Given the description of an element on the screen output the (x, y) to click on. 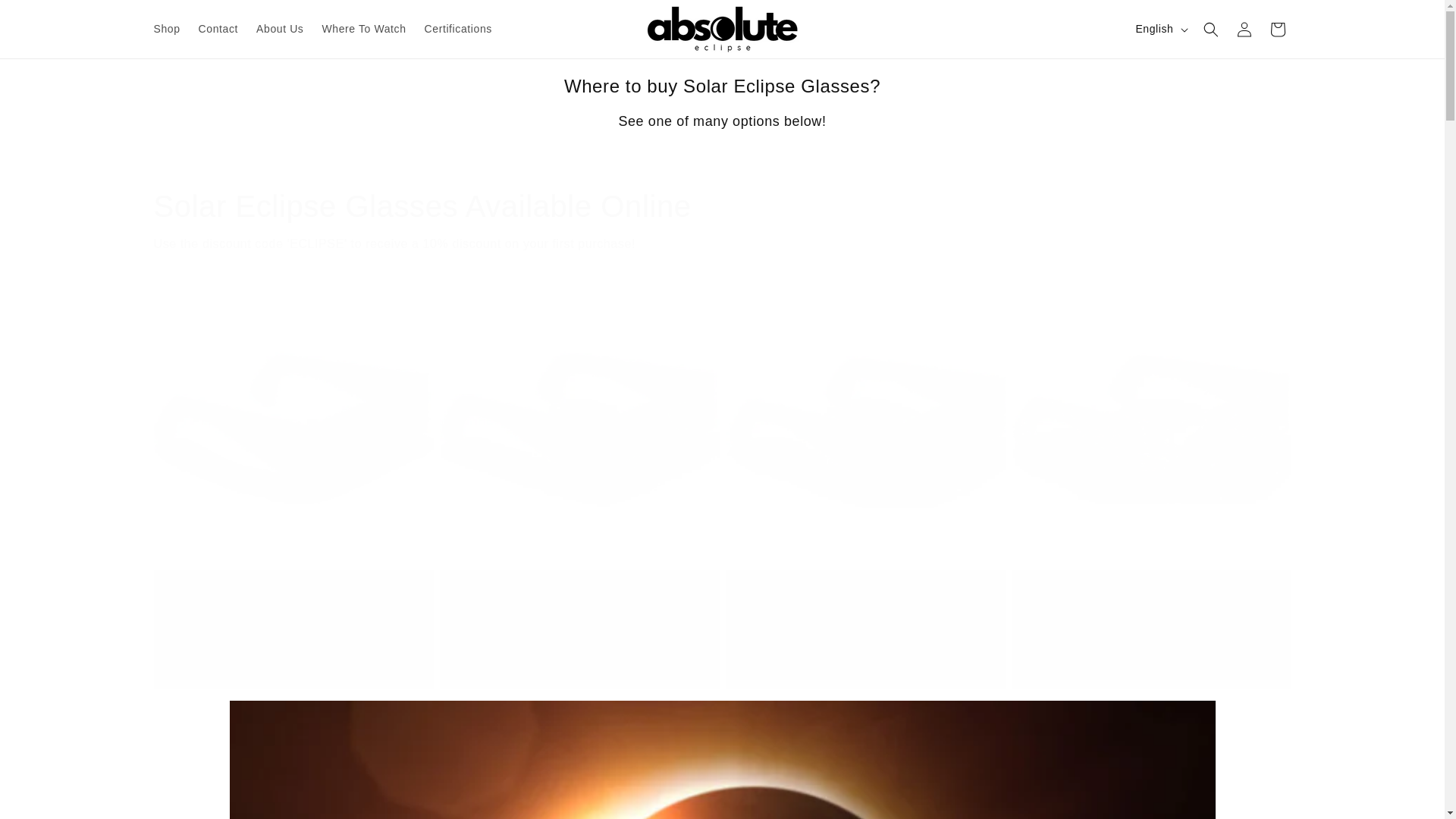
About Us (280, 29)
Solar Eclipse Glasses - Reflective (579, 595)
Cart (1277, 28)
English (1159, 29)
Contact (218, 29)
Shop (166, 29)
Solar Eclipse Glasses - Neon Stickers (864, 595)
Solar Eclipse Glasses - Sunburst (292, 595)
Solar Eclipse Glasses Available Online (721, 206)
Solar Eclipse Glasses - Comic (1151, 595)
